Given the description of an element on the screen output the (x, y) to click on. 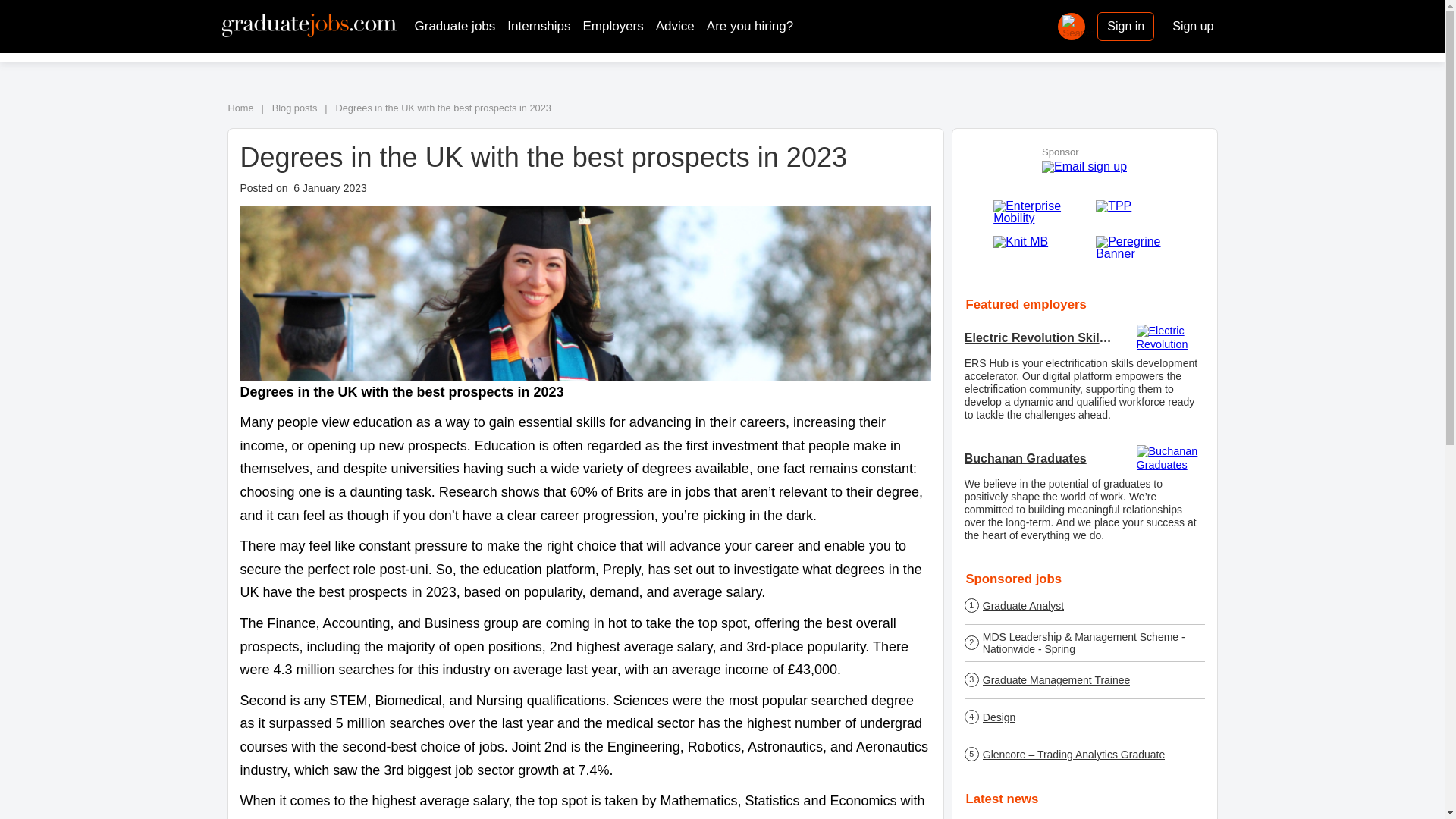
Employers (612, 25)
Graduate jobs (454, 25)
Advice (675, 25)
Are you hiring? (749, 25)
open search bar (1071, 26)
Sign up (1193, 26)
Internships (538, 25)
